Given the description of an element on the screen output the (x, y) to click on. 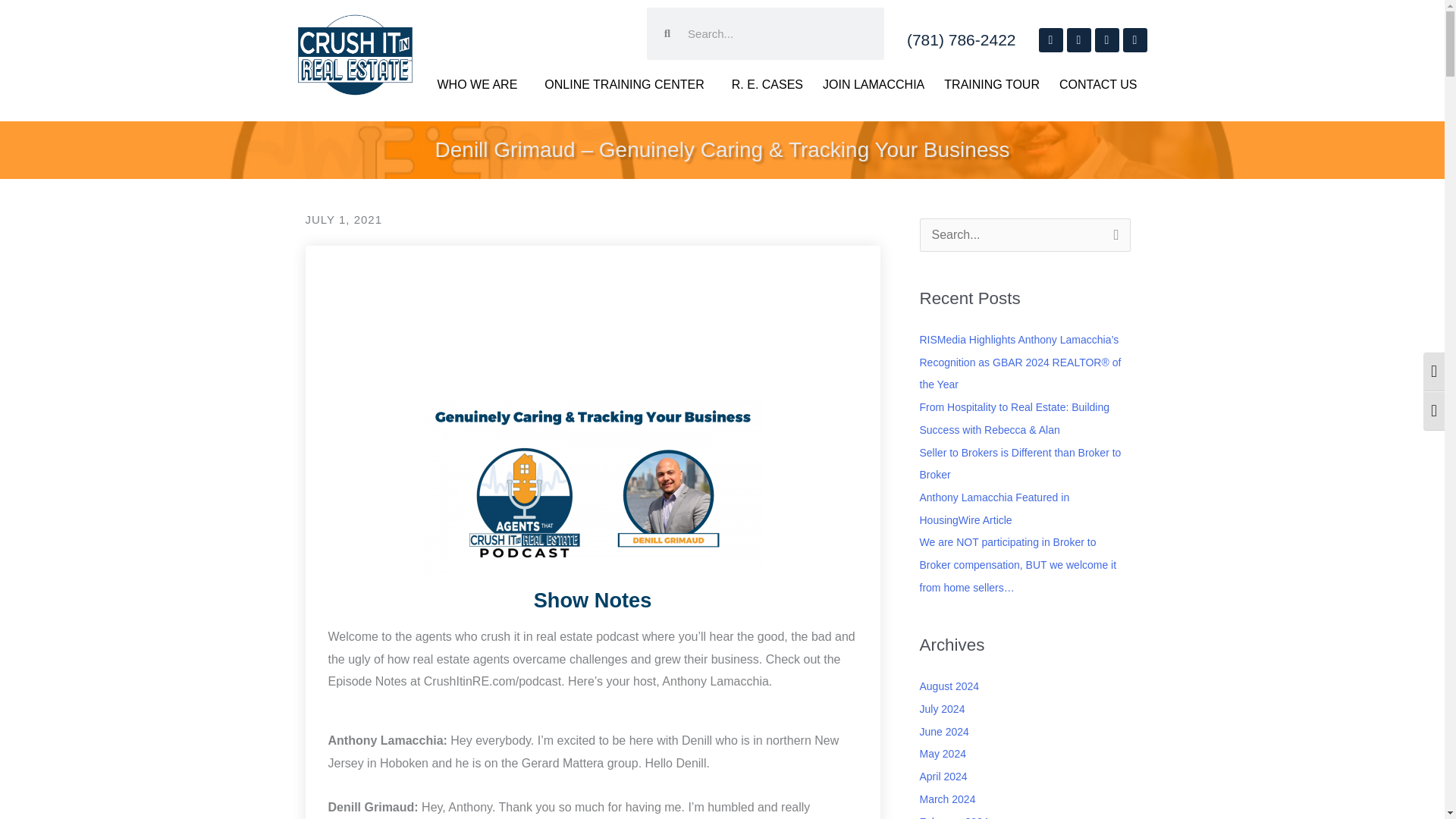
Facebook-f (1050, 39)
JOIN LAMACCHIA (873, 84)
Youtube (1106, 39)
Instagram (1077, 39)
CONTACT US (1098, 84)
WHO WE ARE (481, 84)
R. E. CASES (767, 84)
ONLINE TRAINING CENTER (627, 84)
TRAINING TOUR (991, 84)
Tiktok (1134, 39)
